Given the description of an element on the screen output the (x, y) to click on. 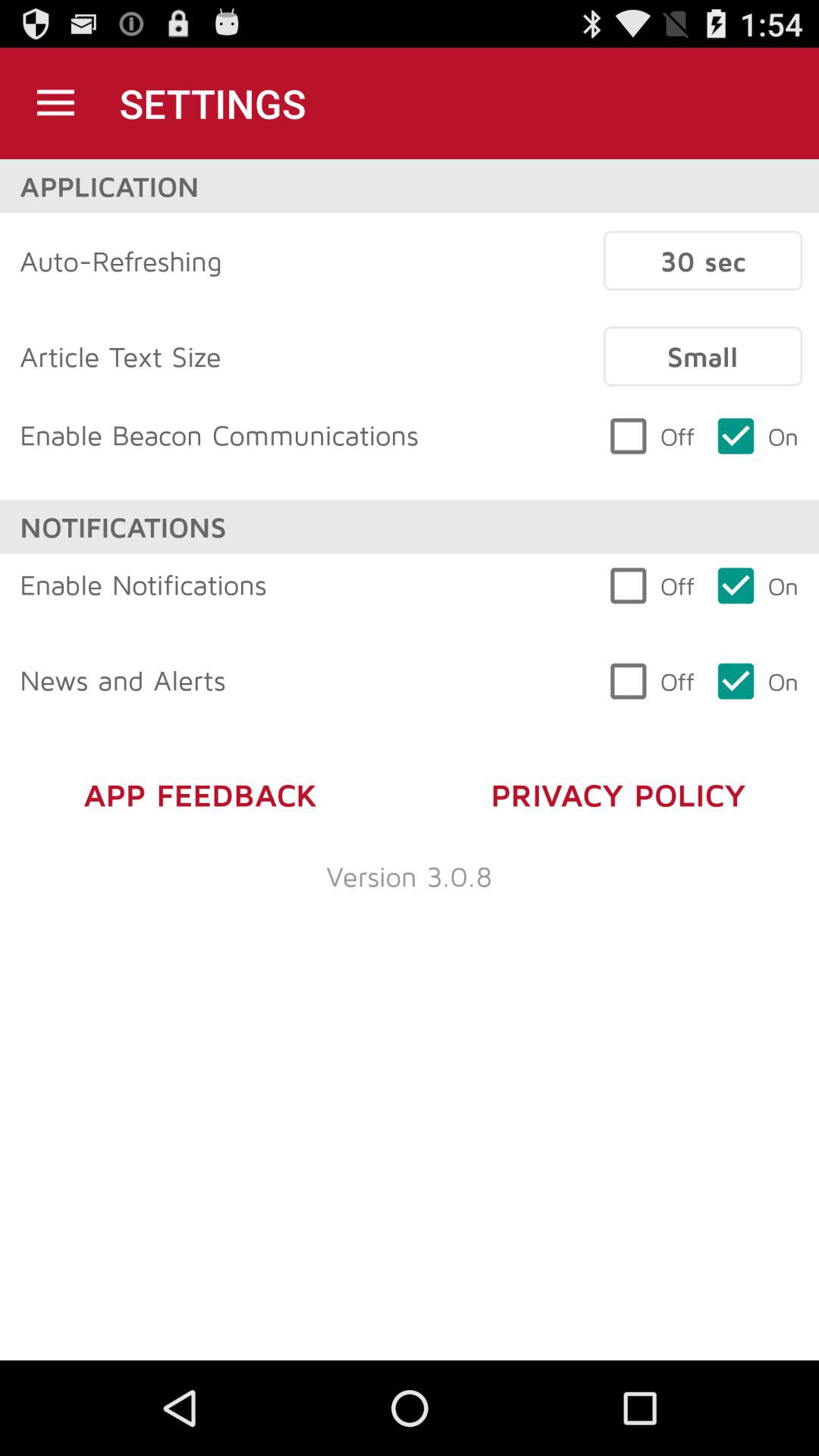
open the app next to the settings (55, 103)
